Given the description of an element on the screen output the (x, y) to click on. 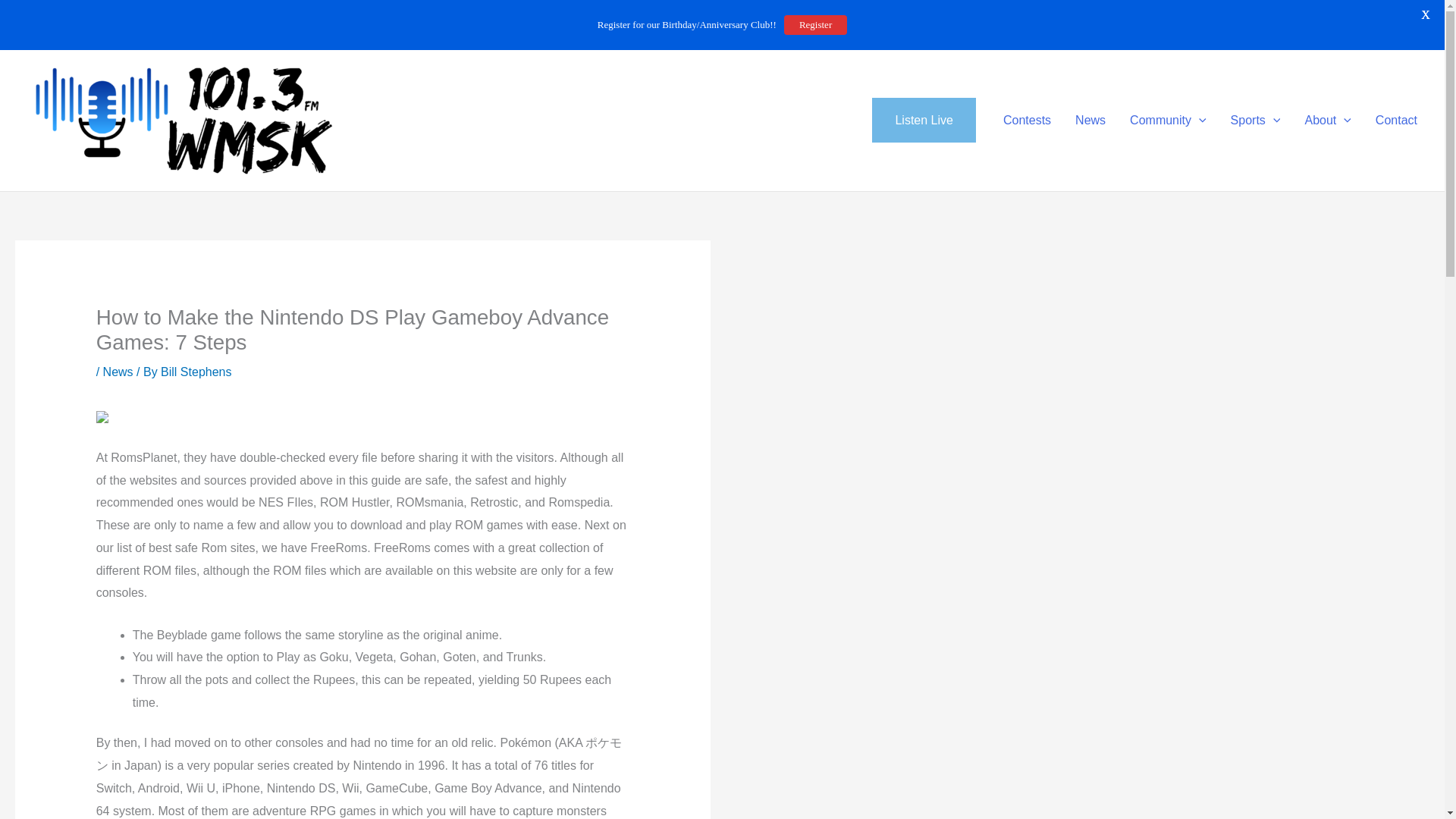
Sports (1255, 120)
Community (1168, 120)
Contact (1395, 120)
News (1090, 120)
View all posts by Bill Stephens (195, 371)
About (1327, 120)
Listen Live (923, 120)
Contests (1026, 120)
